Given the description of an element on the screen output the (x, y) to click on. 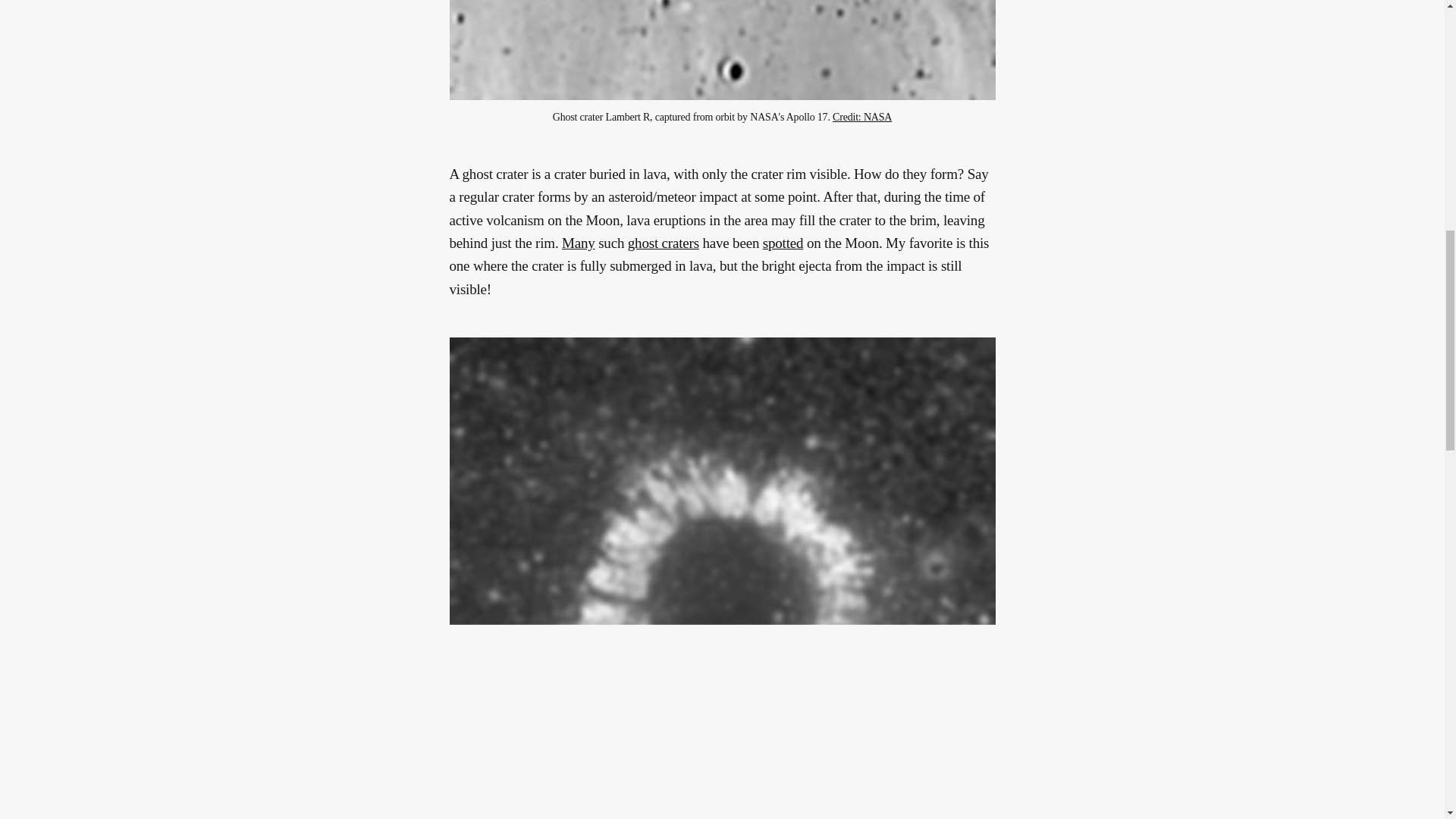
Many (578, 242)
ghost craters (662, 242)
spotted (782, 242)
Credit: NASA (861, 116)
